Given the description of an element on the screen output the (x, y) to click on. 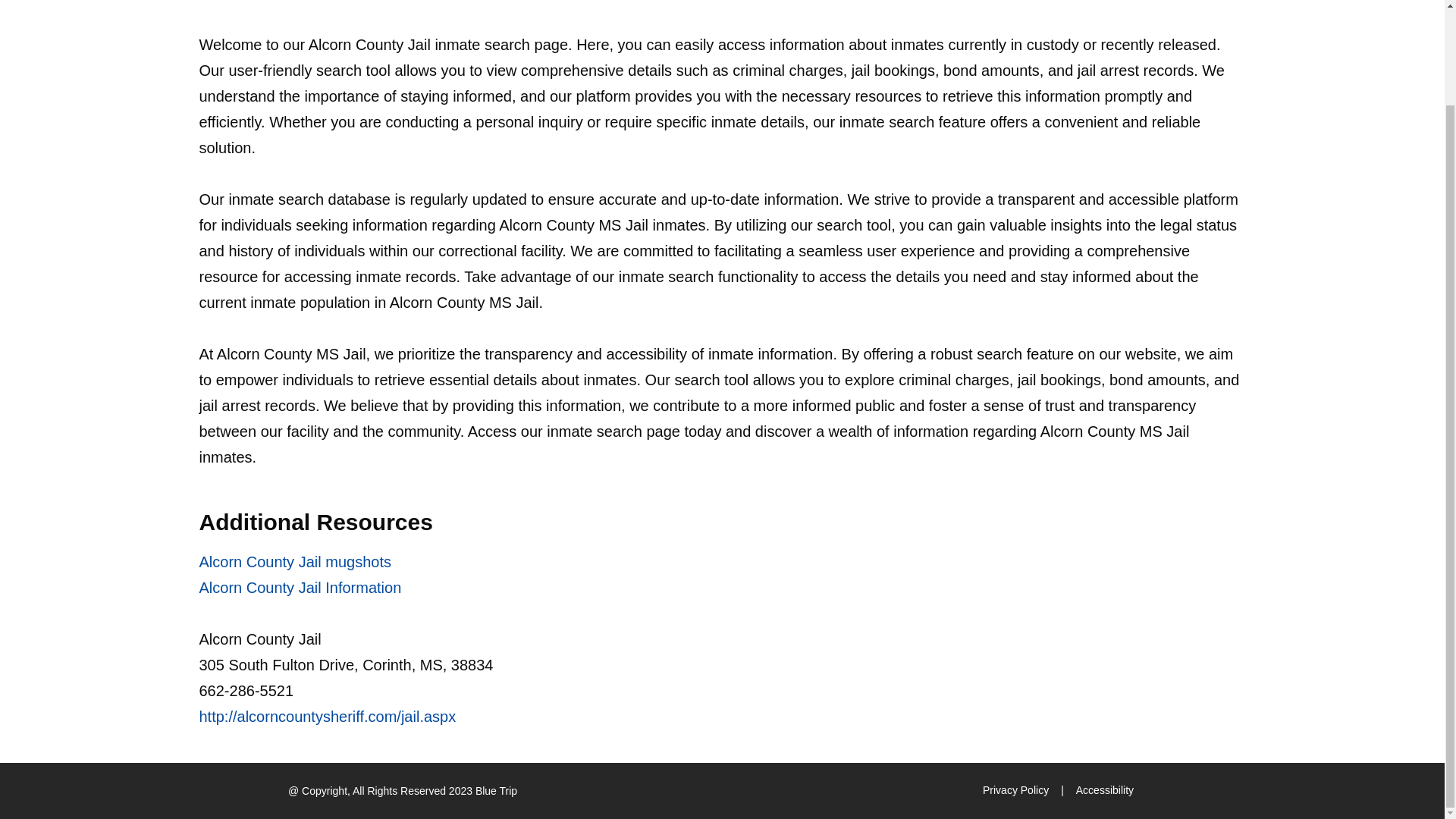
Alcorn County Jail Information (299, 587)
Alcorn County Jail mugshots (294, 561)
Accessibility (1104, 791)
Privacy Policy (1015, 791)
